Given the description of an element on the screen output the (x, y) to click on. 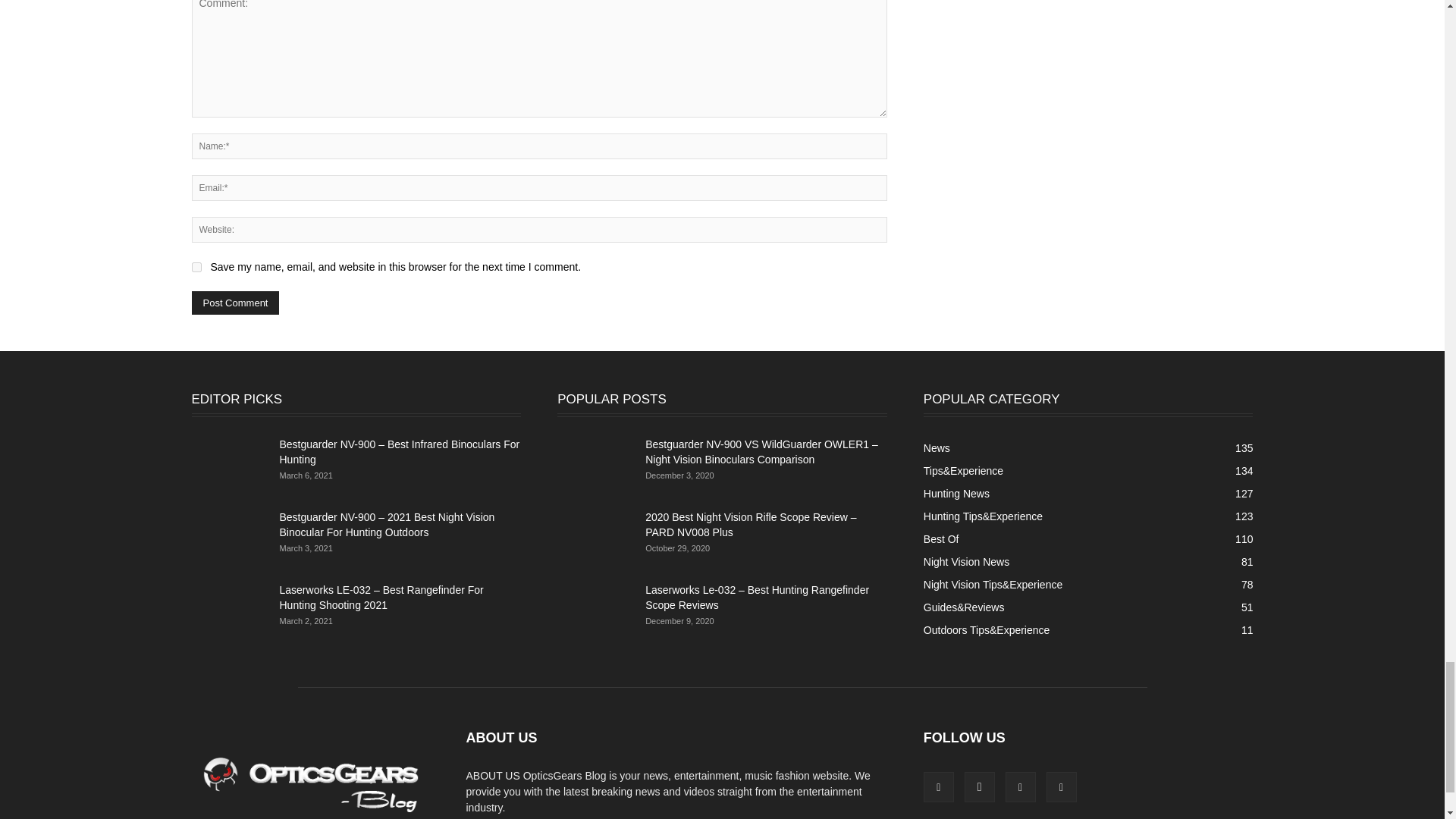
Post Comment (234, 302)
yes (195, 266)
